Given the description of an element on the screen output the (x, y) to click on. 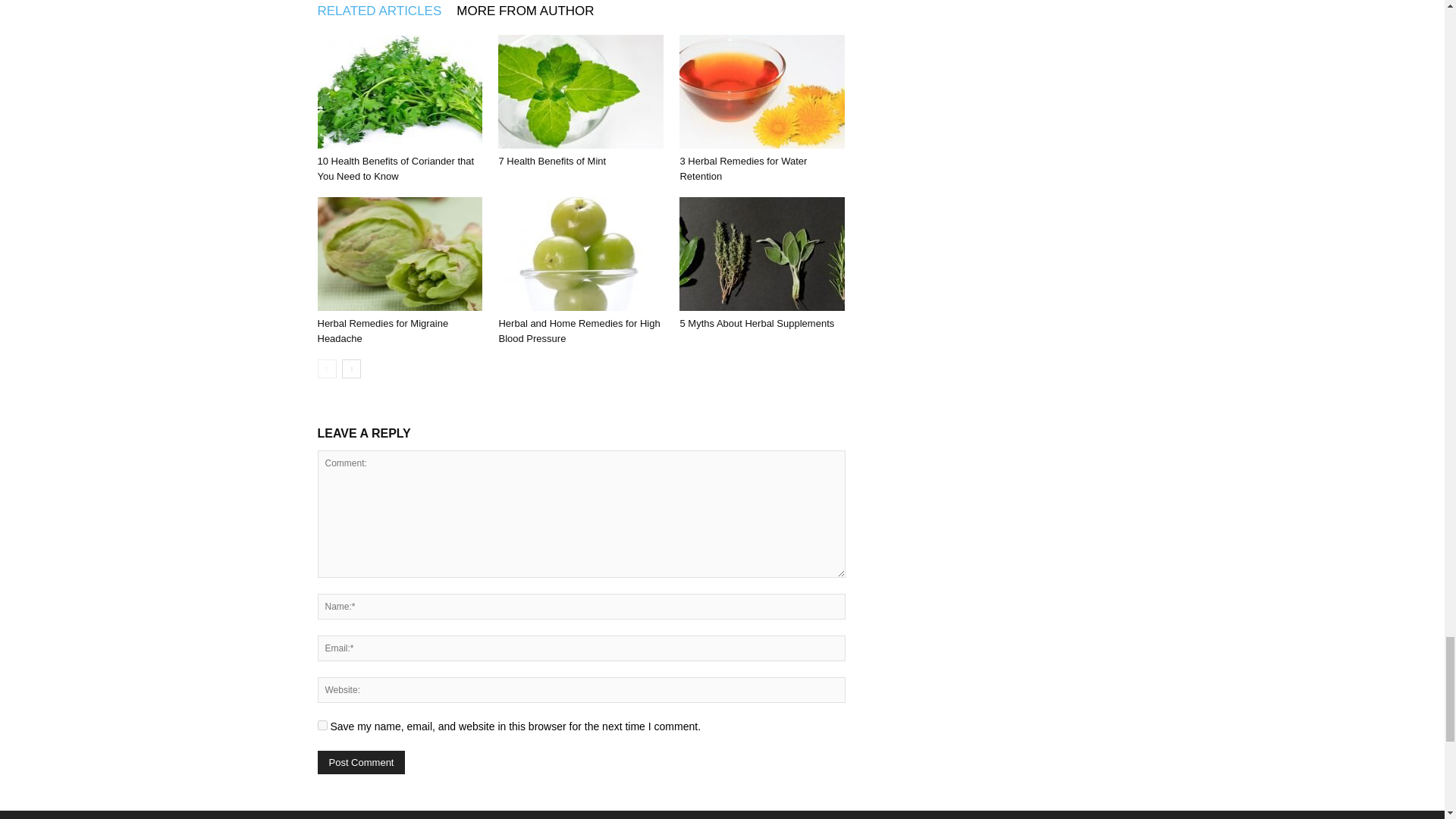
Post Comment (360, 762)
7 Health Benefits of Mint (551, 161)
7 Health Benefits of Mint (580, 91)
yes (321, 725)
10 Health Benefits of Coriander that You Need to Know (399, 91)
3 Herbal Remedies for Water Retention (761, 91)
10 Health Benefits of Coriander that You Need to Know (395, 168)
